Given the description of an element on the screen output the (x, y) to click on. 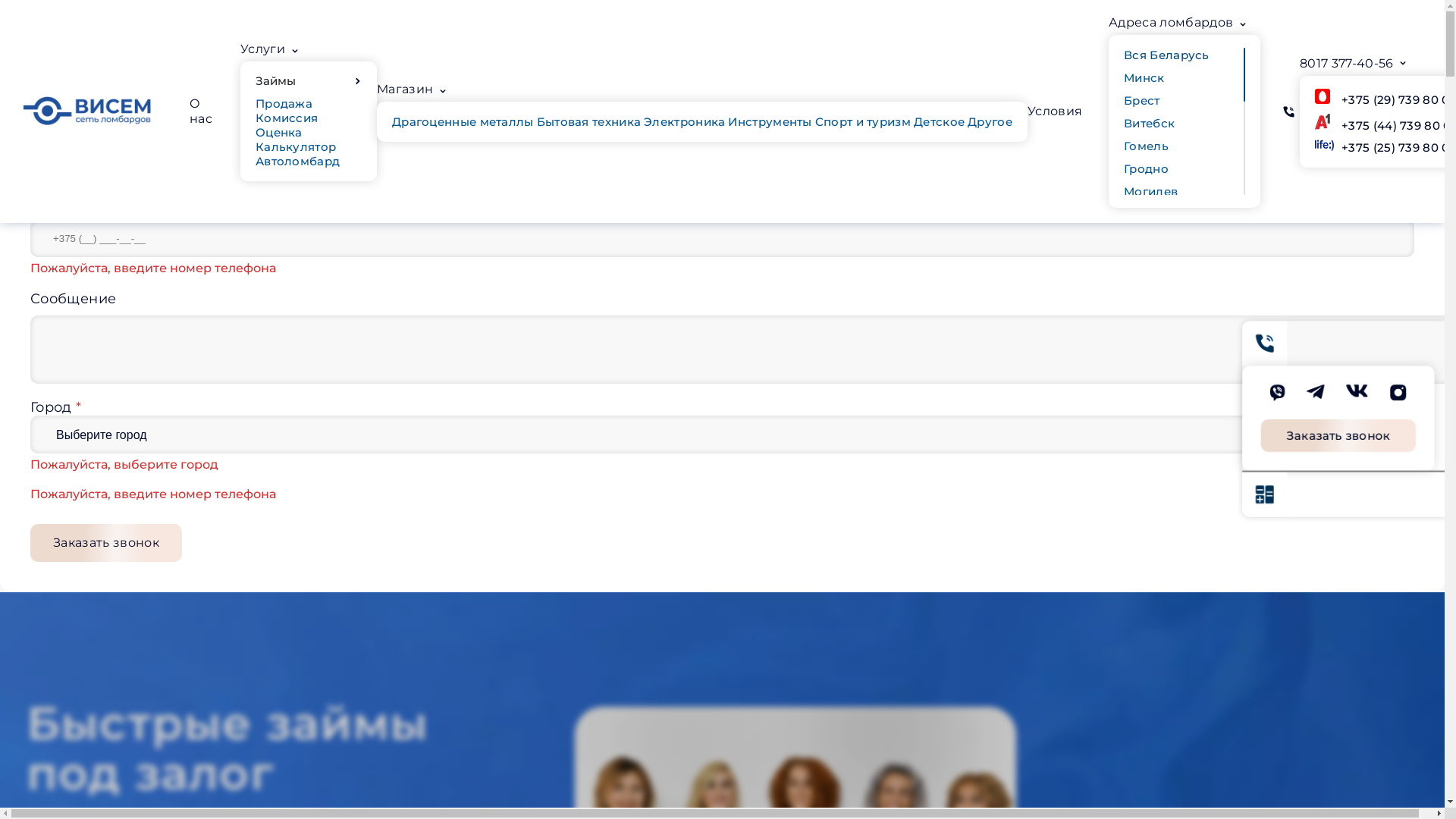
8017 377-40-56 Element type: text (1346, 63)
